Given the description of an element on the screen output the (x, y) to click on. 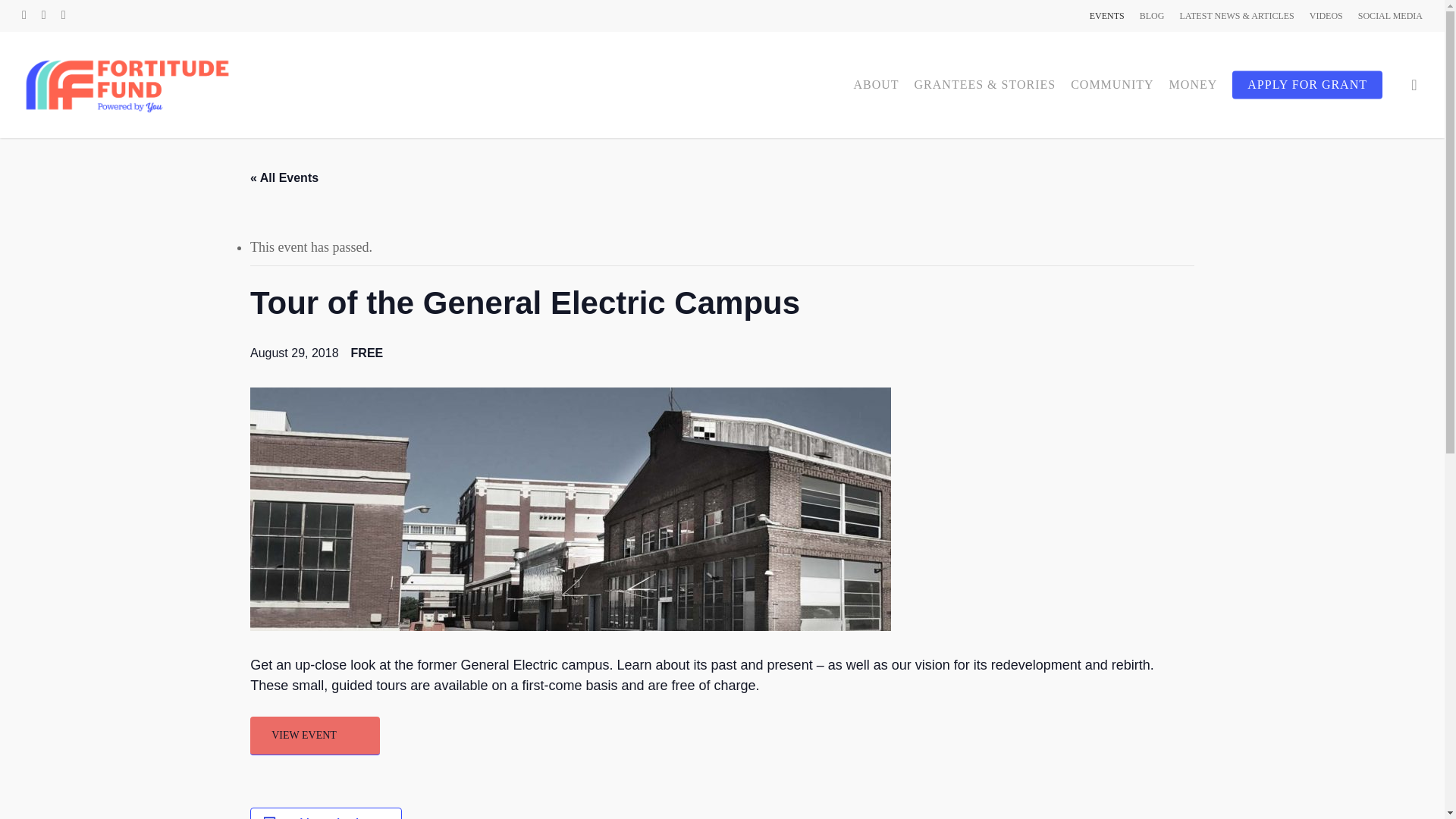
COMMUNITY (1111, 84)
EVENTS (1106, 15)
VIEW EVENT (315, 735)
Add to calendar (328, 817)
SOCIAL MEDIA (1390, 15)
VIDEOS (1325, 15)
ABOUT (875, 84)
BLOG (1152, 15)
APPLY FOR GRANT (1306, 84)
search (1414, 84)
MONEY (1193, 84)
